Given the description of an element on the screen output the (x, y) to click on. 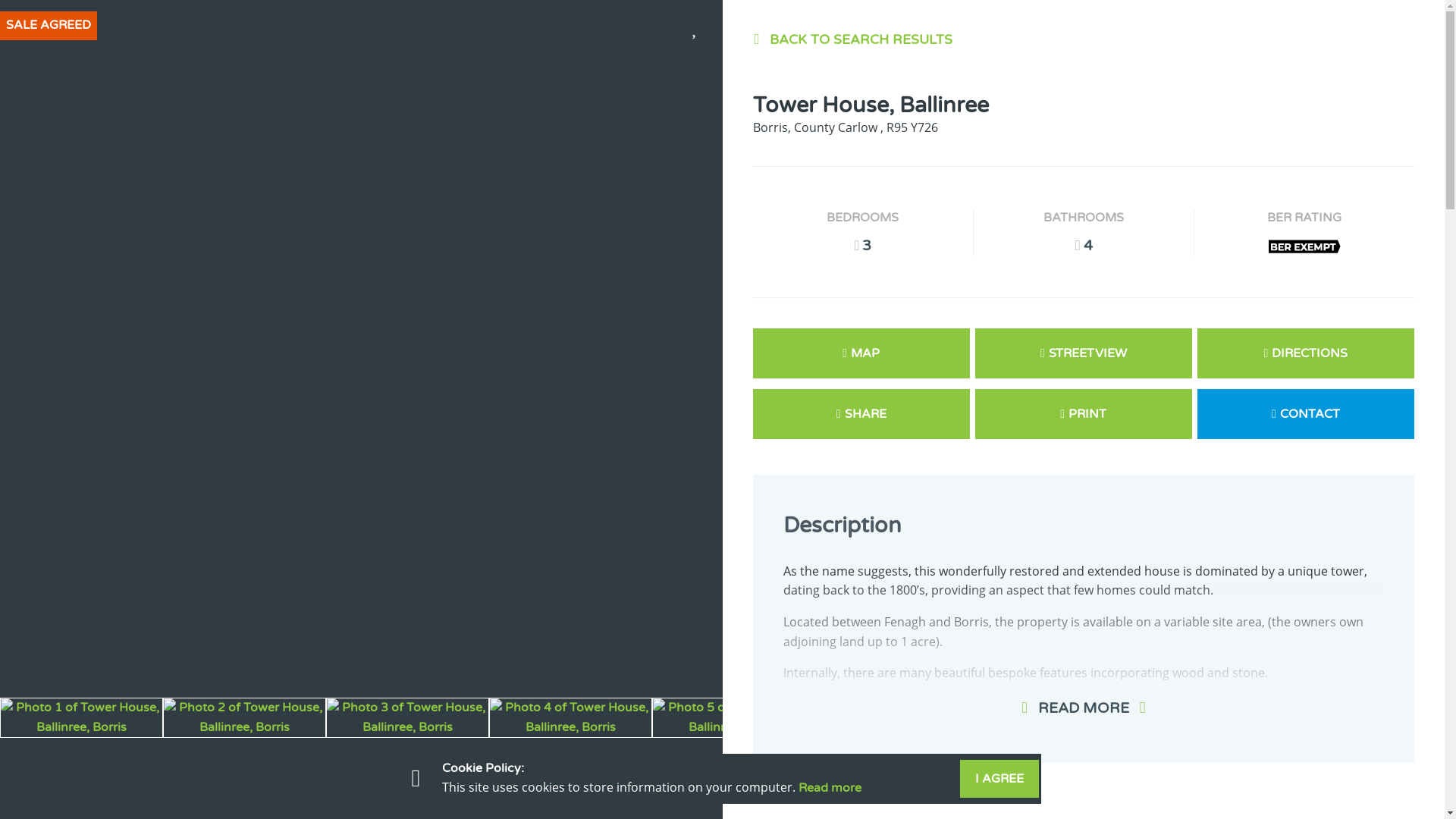
Read more (828, 787)
Photo 3 of Tower House, Ballinree, Borris (407, 717)
Photo 4 of Tower House, Ballinree, Borris (570, 717)
Photo 1 of Tower House, Ballinree, Borris (81, 717)
Photo 2 of Tower House, Ballinree, Borris (244, 717)
Photo 5 of Tower House, Ballinree, Borris (733, 717)
CONTACT (1304, 413)
I AGREE (999, 778)
